Given the description of an element on the screen output the (x, y) to click on. 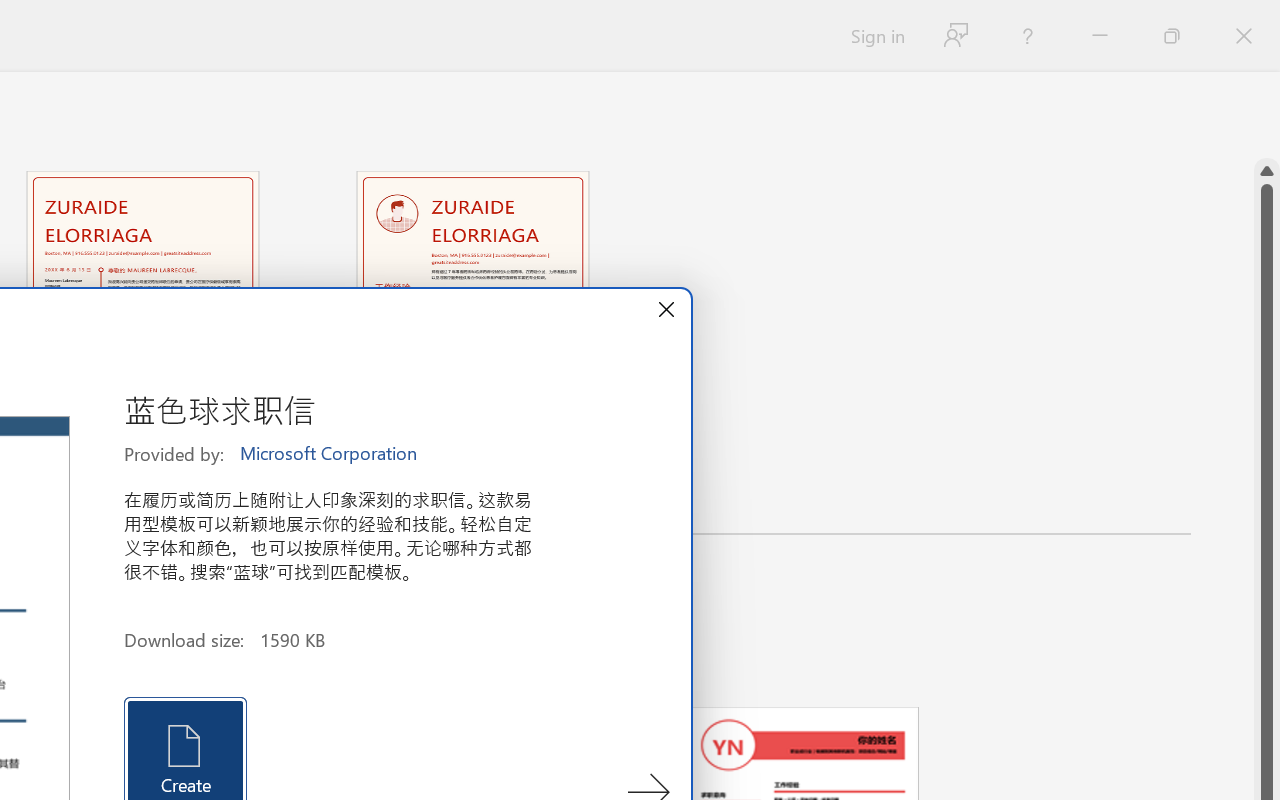
Line up (1267, 171)
Microsoft Corporation (330, 454)
